Given the description of an element on the screen output the (x, y) to click on. 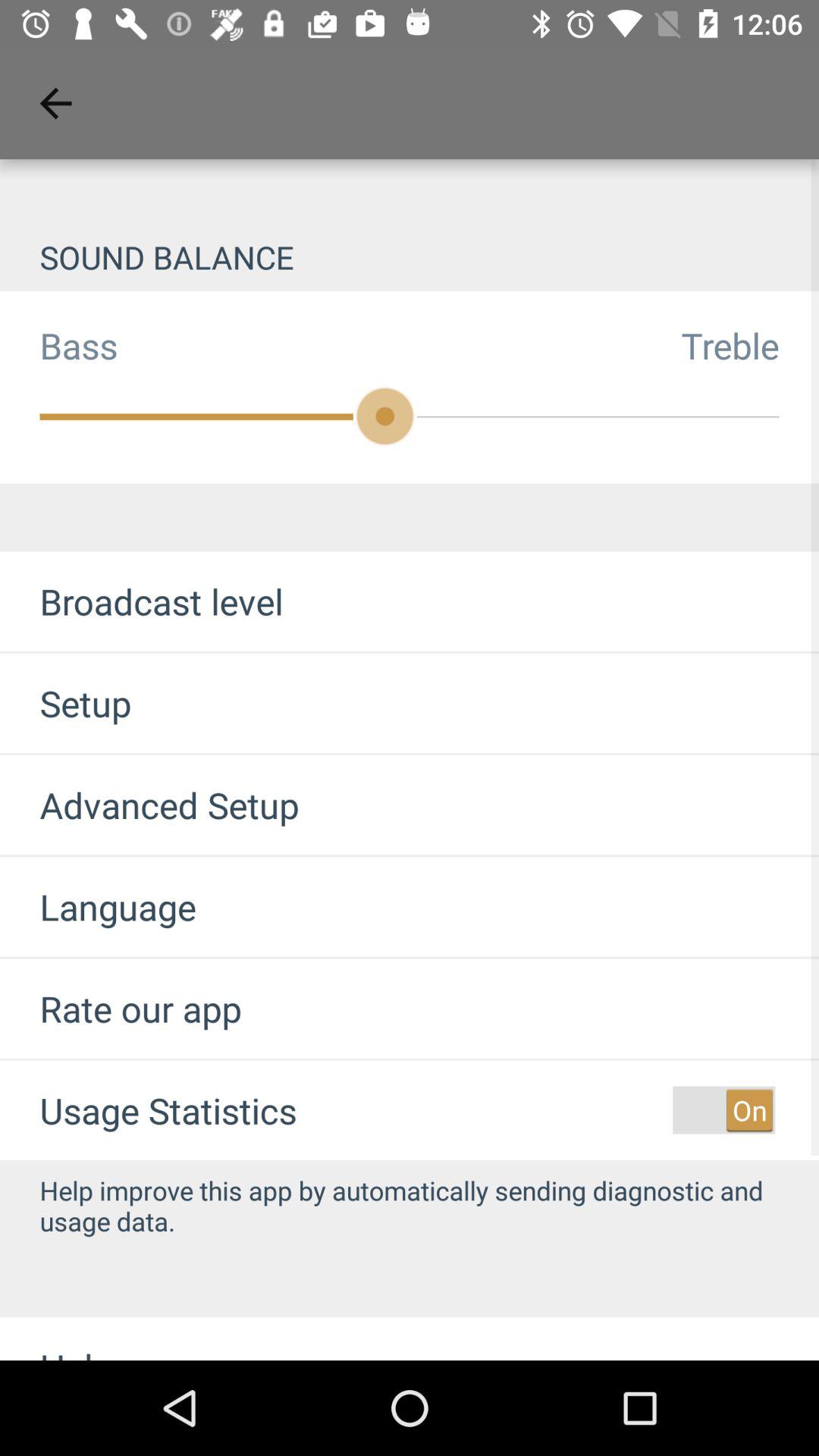
scroll until the language item (98, 906)
